Given the description of an element on the screen output the (x, y) to click on. 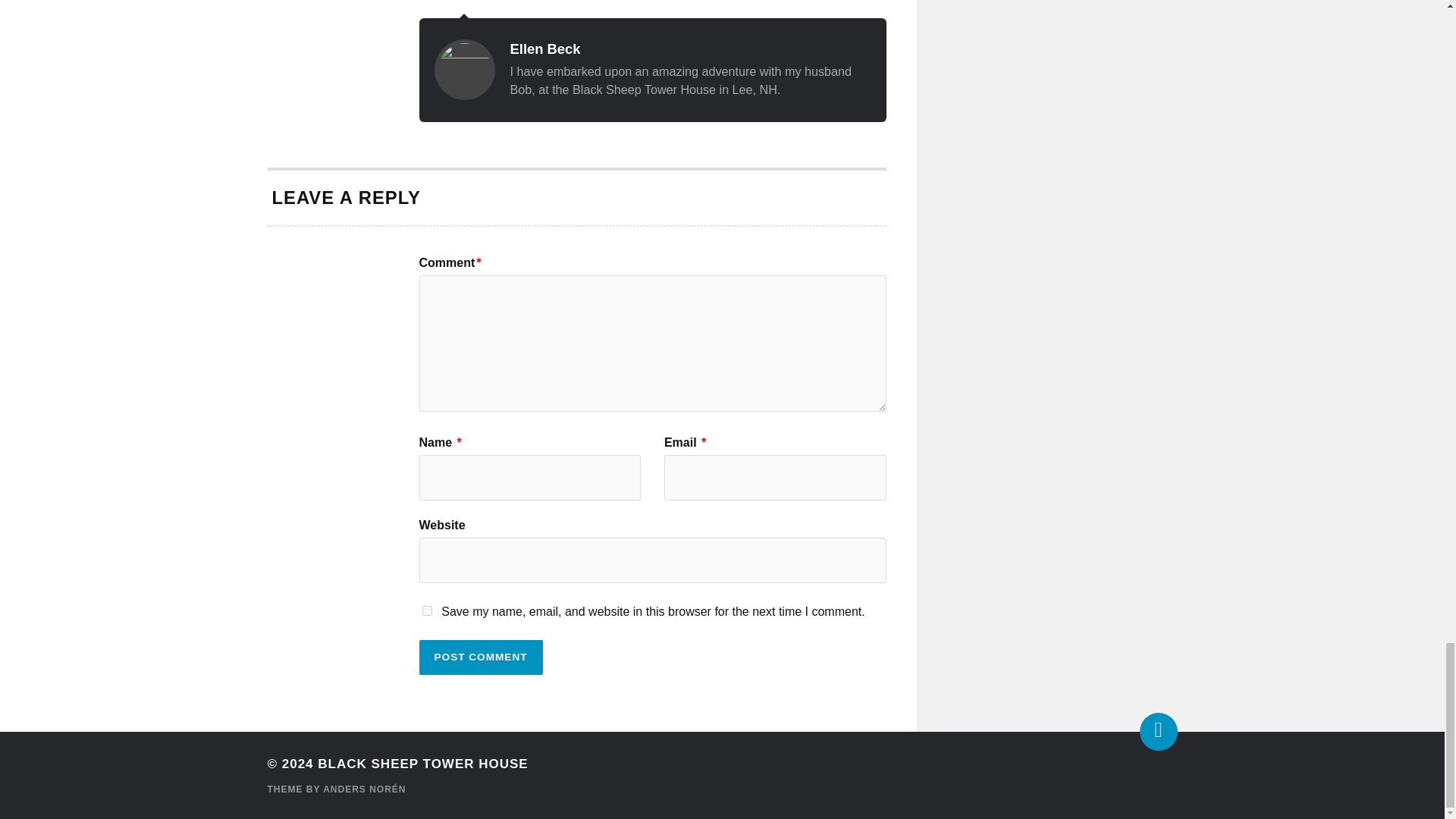
Post Comment (480, 656)
yes (426, 610)
Ellen Beck (544, 48)
